Given the description of an element on the screen output the (x, y) to click on. 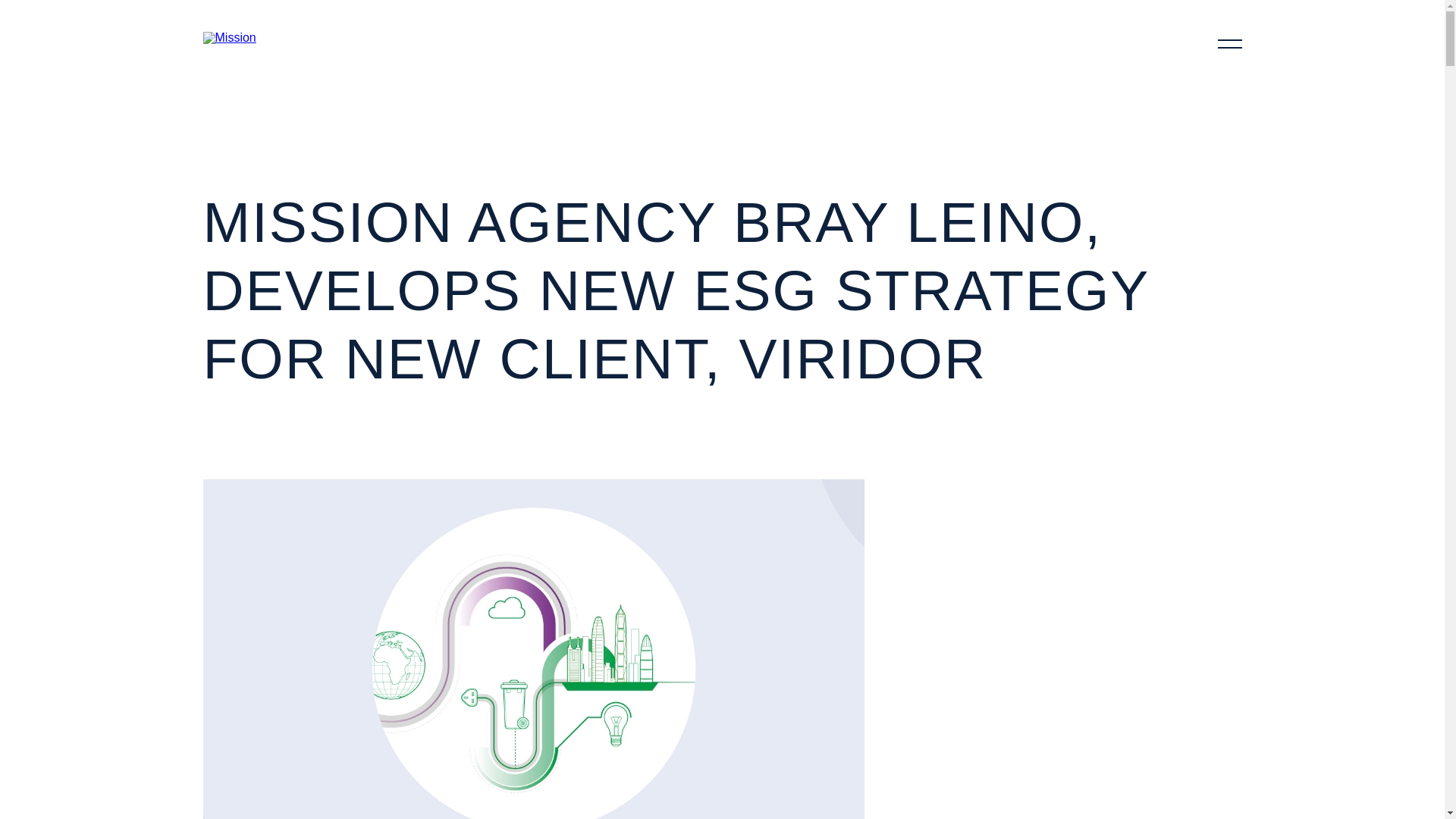
Mission (251, 37)
Menu (1229, 48)
